Given the description of an element on the screen output the (x, y) to click on. 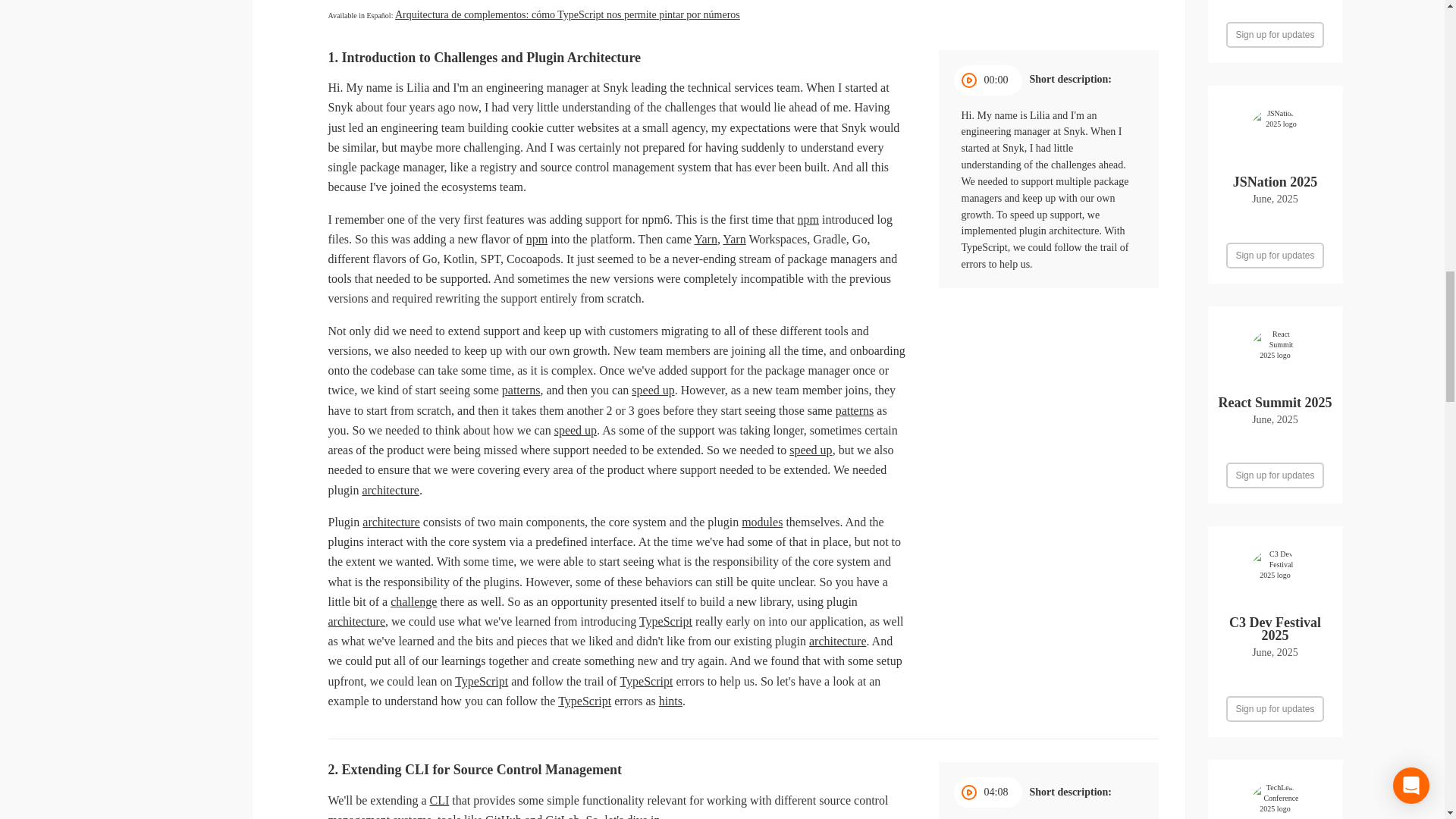
Get email notification when event registration opens. (1274, 708)
patterns (521, 390)
speed up (652, 390)
npm (536, 238)
Get email notification when event registration opens. (1274, 475)
00:00 (987, 80)
Yarn (705, 238)
Get email notification when event registration opens. (1274, 255)
npm (807, 219)
Yarn (733, 238)
Get email notification when event registration opens. (1274, 34)
